Given the description of an element on the screen output the (x, y) to click on. 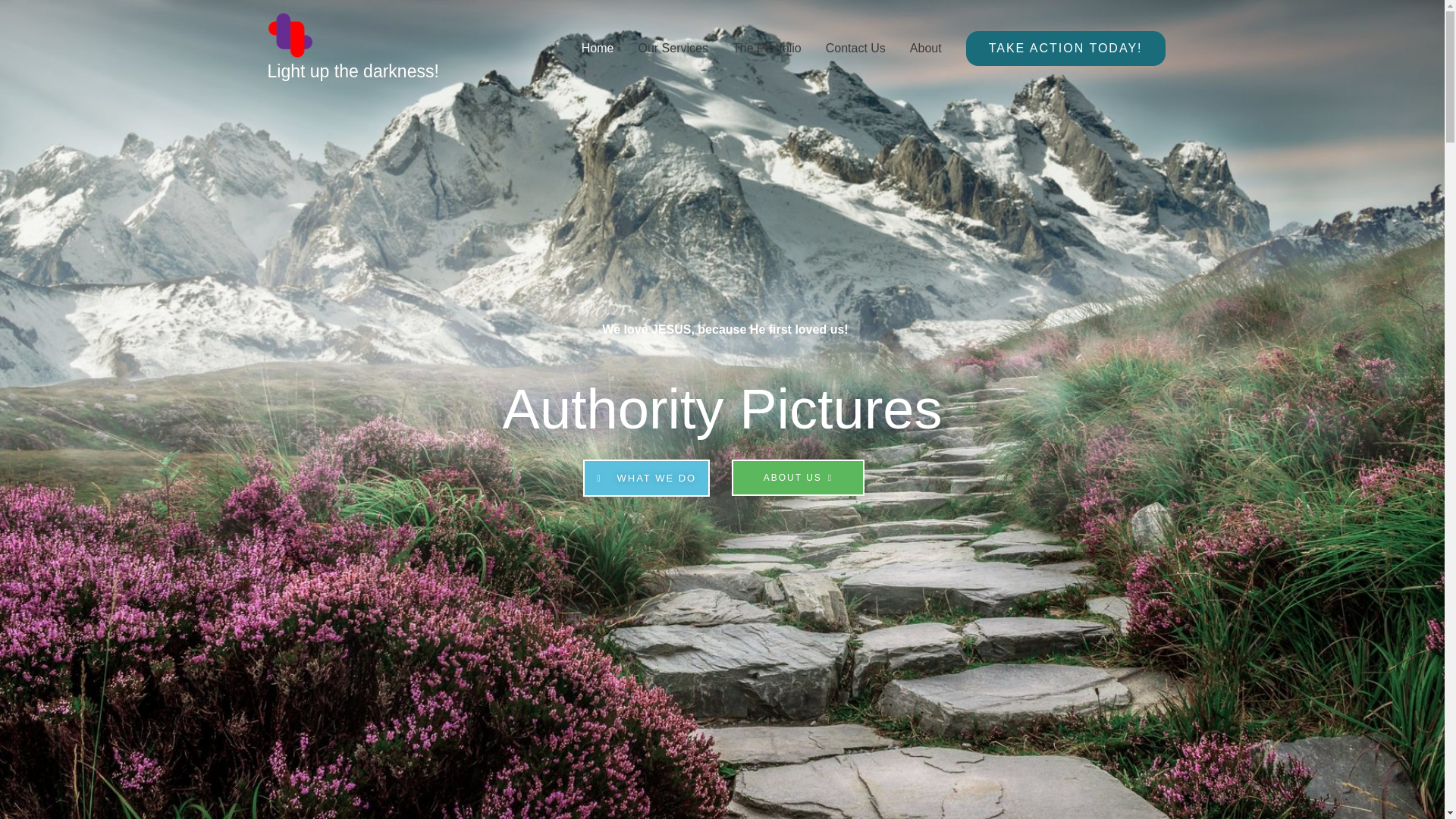
The Portfolio (766, 48)
TAKE ACTION TODAY! (1066, 48)
Contact Us (855, 48)
Home (597, 48)
ABOUT US (798, 477)
About (925, 48)
Our Services (673, 48)
WHAT WE DO (646, 477)
